Given the description of an element on the screen output the (x, y) to click on. 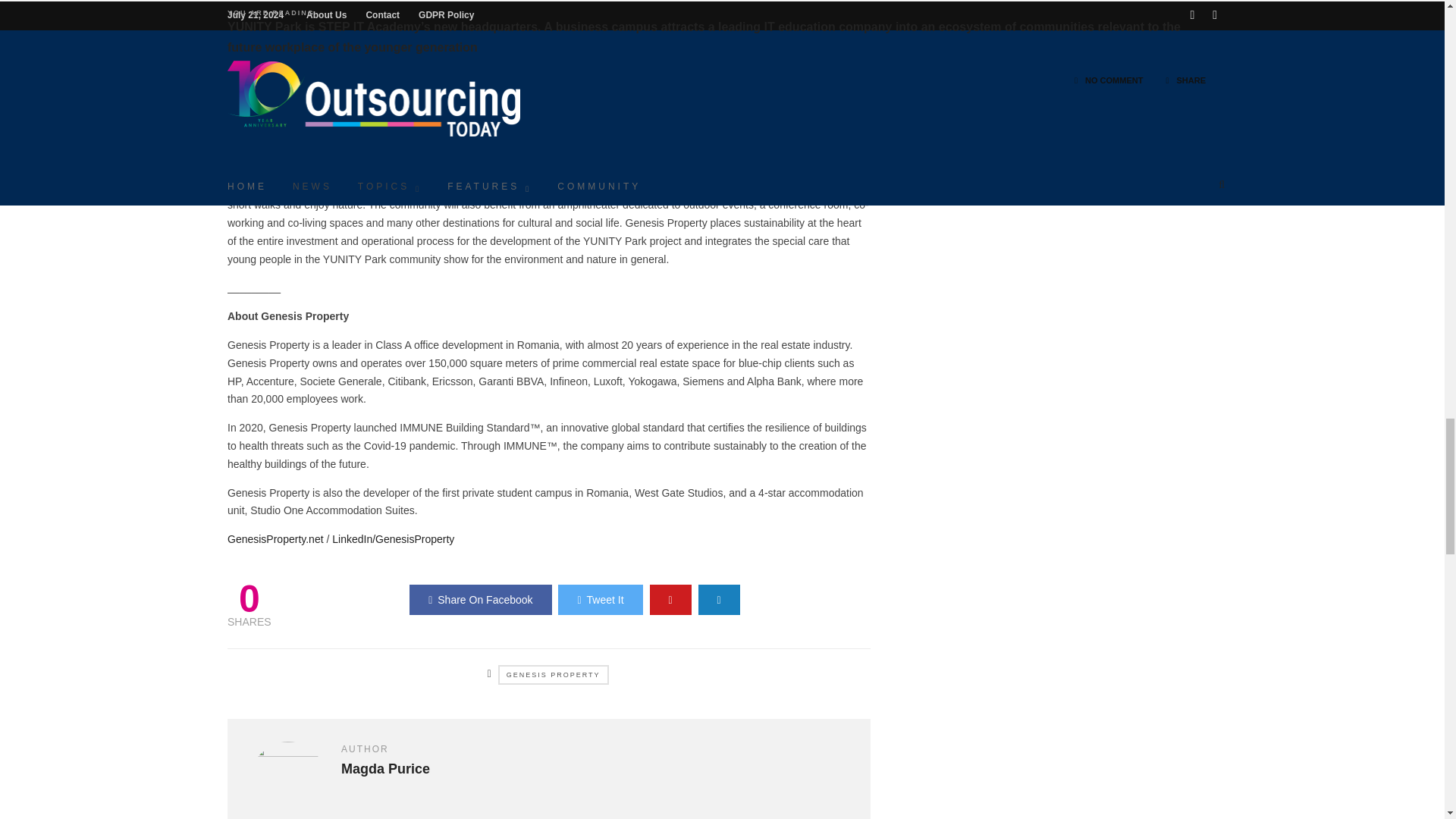
Share On Facebook (480, 599)
Share On Twitter (599, 599)
Share On Pinterest (670, 599)
Share by Email (718, 599)
